Given the description of an element on the screen output the (x, y) to click on. 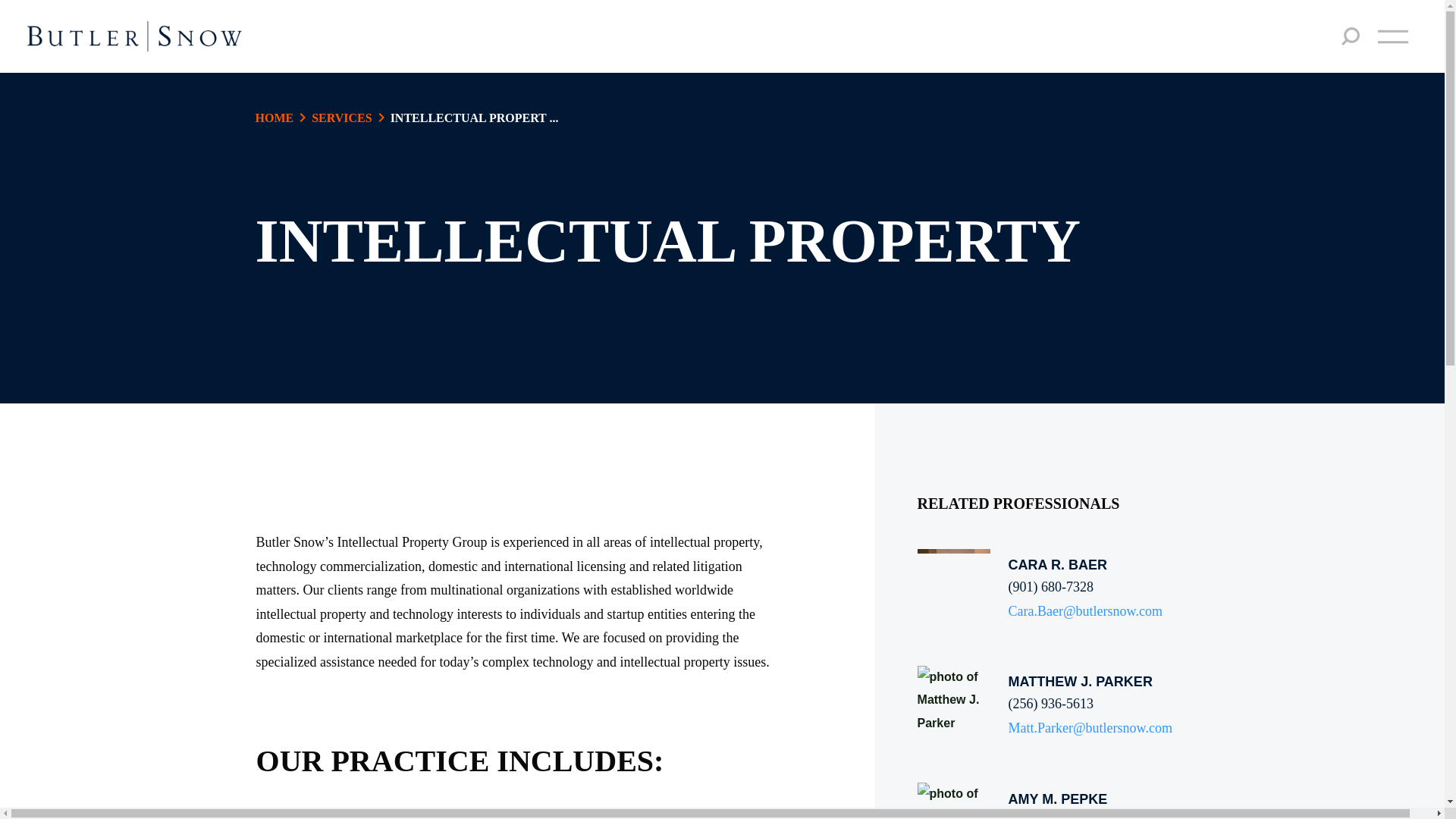
CARA R. BAER (1085, 565)
AMY M. PEPKE (1089, 799)
HOME (274, 118)
SERVICES (341, 118)
MATTHEW J. PARKER (1090, 681)
